Given the description of an element on the screen output the (x, y) to click on. 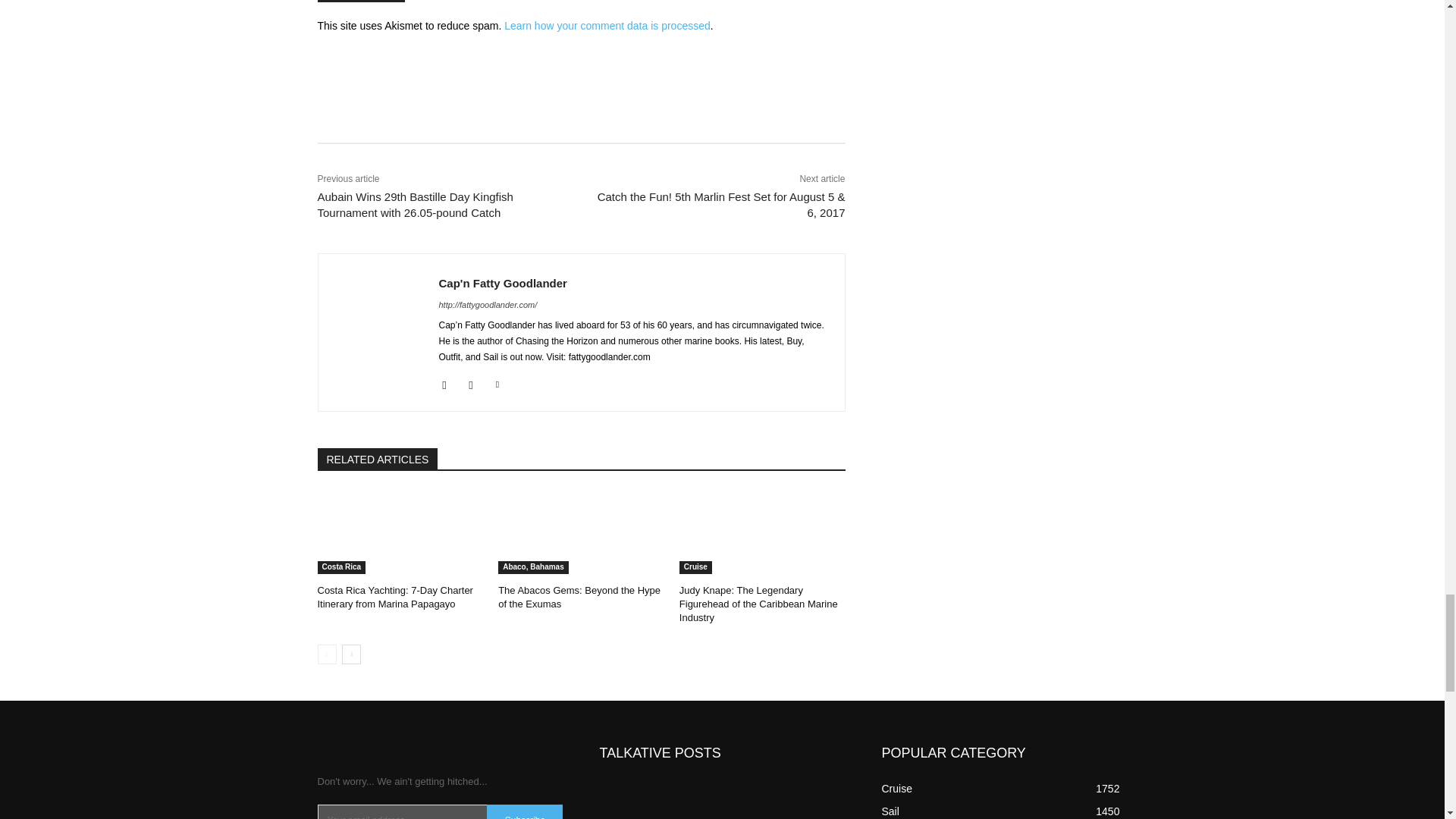
Post Comment (360, 1)
